Given the description of an element on the screen output the (x, y) to click on. 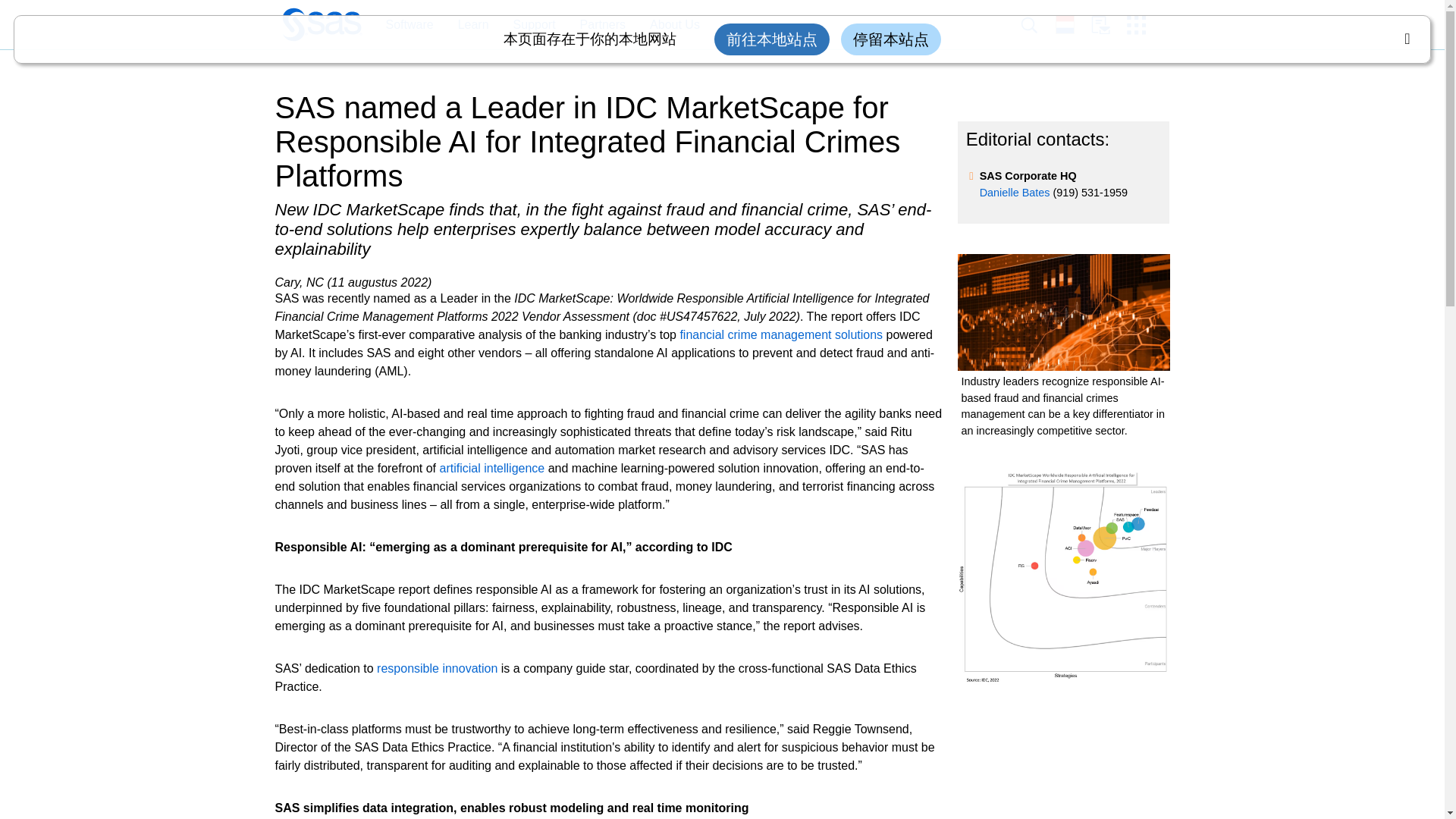
Abstract financial charts (1062, 312)
Contact Us (1108, 25)
About Us (674, 24)
Support (534, 24)
Software (409, 24)
Search (1037, 25)
Partners (602, 24)
Learn (472, 24)
Software (401, 24)
Learn (465, 24)
